Given the description of an element on the screen output the (x, y) to click on. 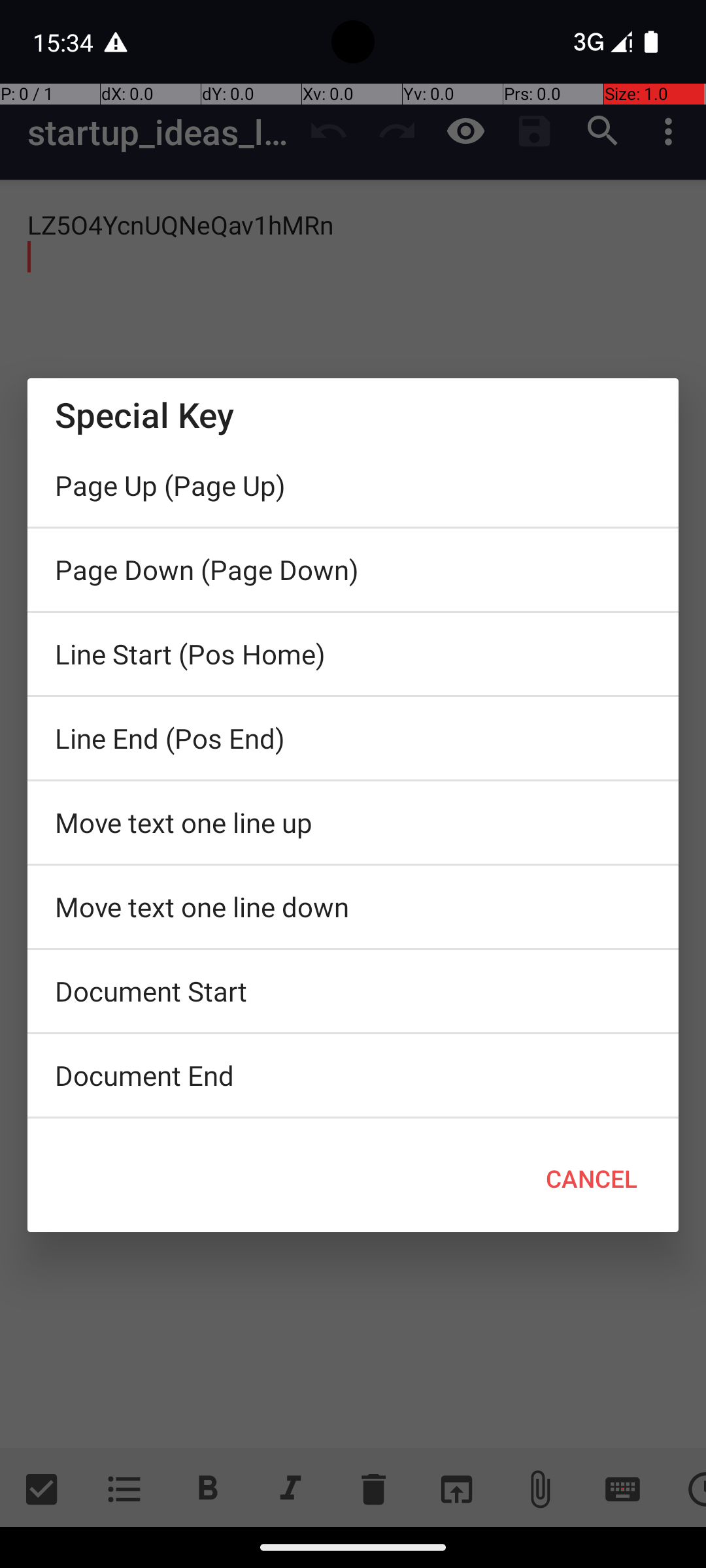
Page Up (Page Up) Element type: android.widget.TextView (352, 485)
Page Down (Page Down) Element type: android.widget.TextView (352, 569)
Line Start (Pos Home) Element type: android.widget.TextView (352, 653)
Line End (Pos End) Element type: android.widget.TextView (352, 738)
Move text one line up Element type: android.widget.TextView (352, 822)
Move text one line down Element type: android.widget.TextView (352, 906)
Document Start Element type: android.widget.TextView (352, 990)
Document End Element type: android.widget.TextView (352, 1075)
Select all (Ctrl+A) Element type: android.widget.TextView (352, 1121)
